Given the description of an element on the screen output the (x, y) to click on. 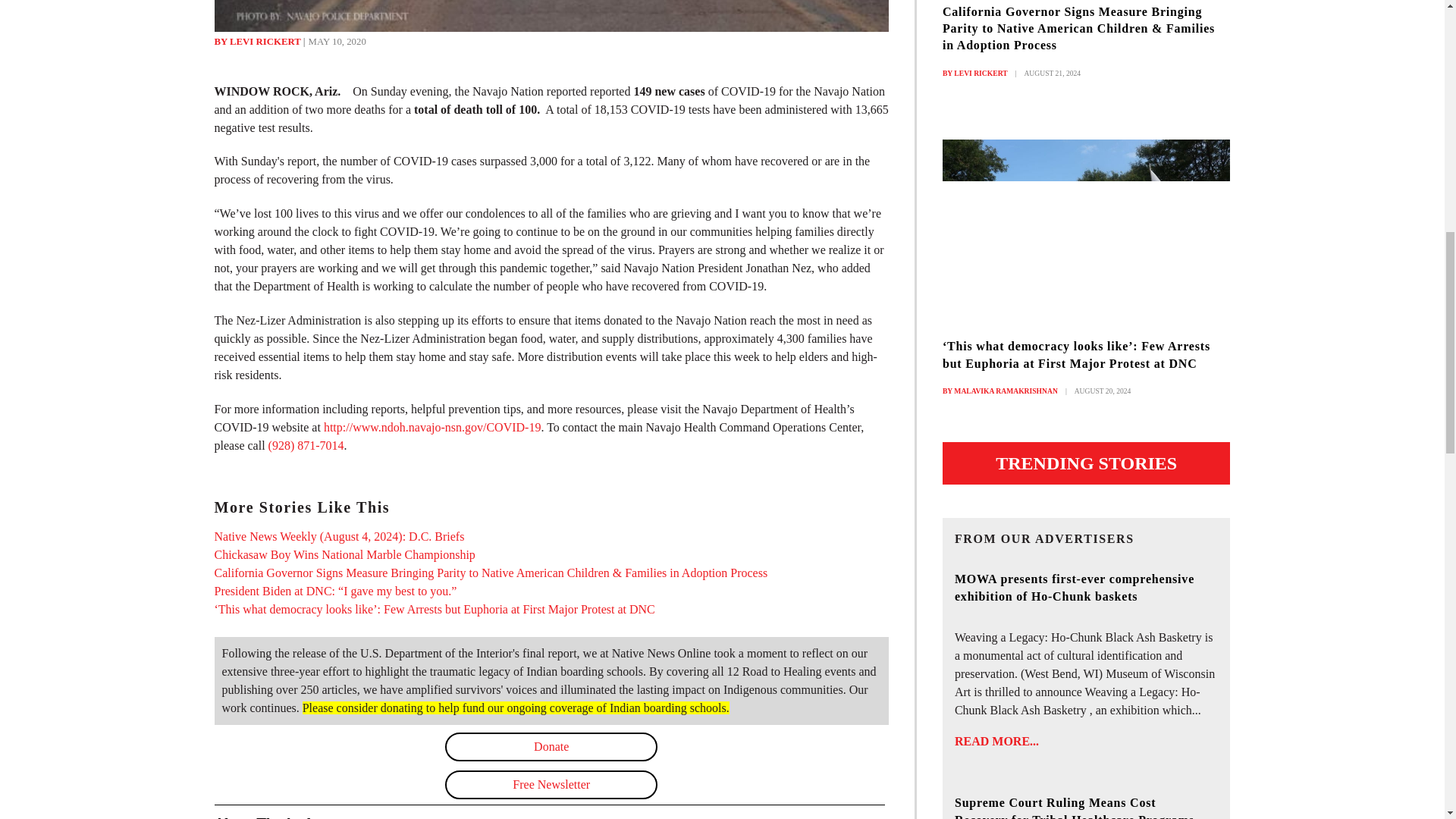
Donate (551, 746)
Chickasaw Boy Wins National Marble Championship (344, 554)
Free Newsletter (551, 784)
